Given the description of an element on the screen output the (x, y) to click on. 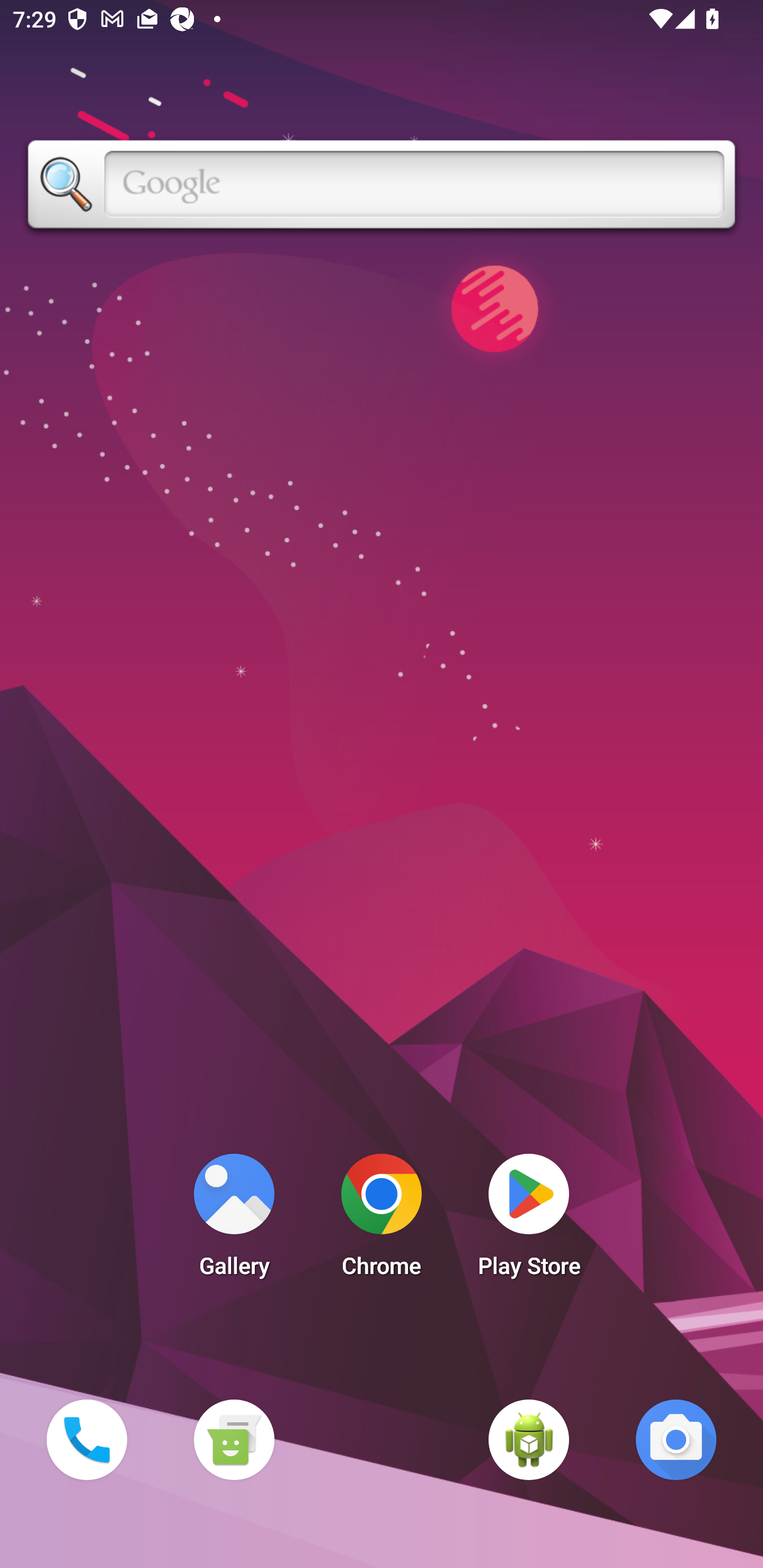
Gallery (233, 1220)
Chrome (381, 1220)
Play Store (528, 1220)
Phone (86, 1439)
Messaging (233, 1439)
WebView Browser Tester (528, 1439)
Camera (676, 1439)
